Given the description of an element on the screen output the (x, y) to click on. 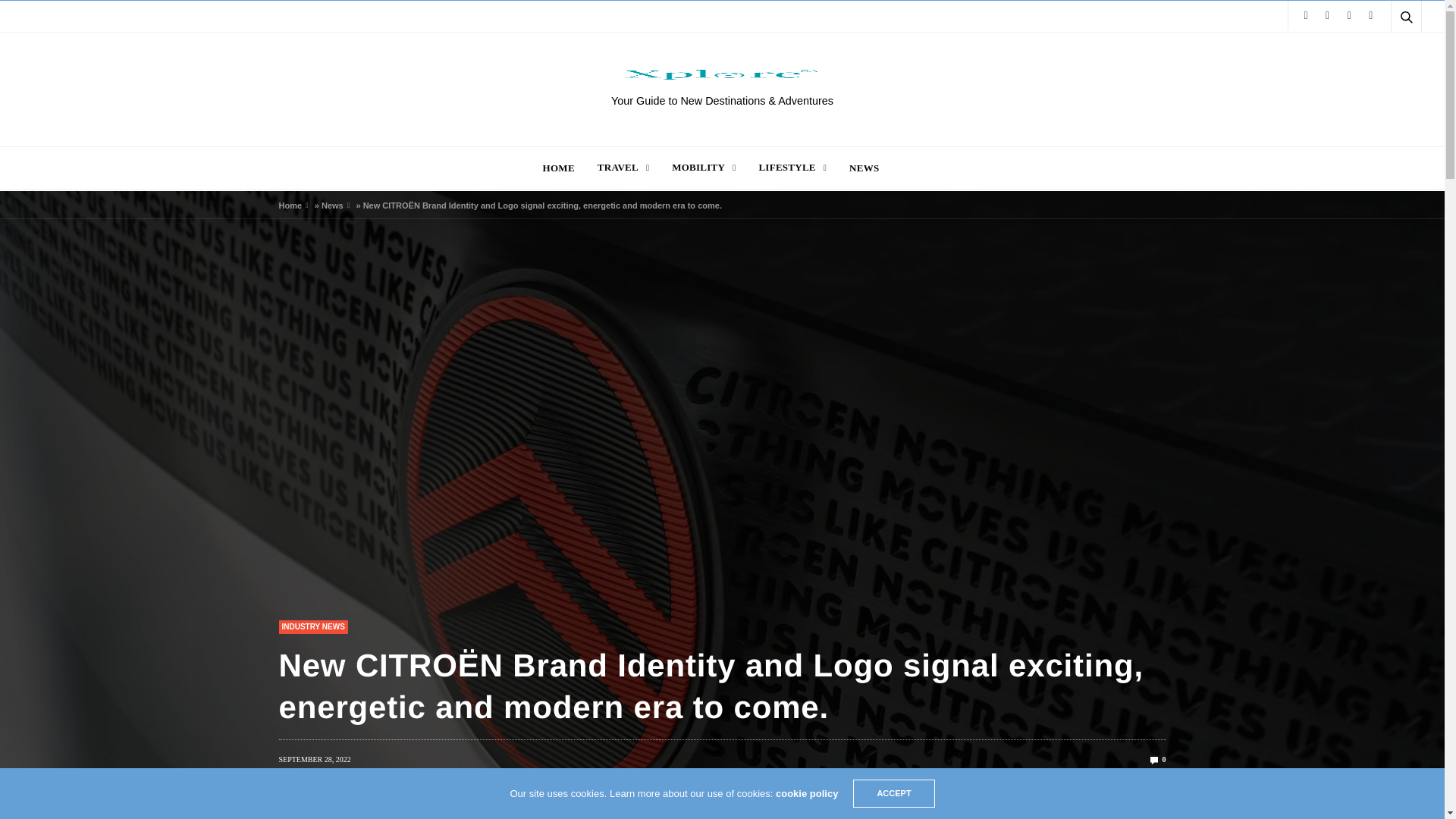
HOME (559, 167)
Search (1386, 53)
0 (1158, 759)
MOBILITY (703, 167)
Industry News (313, 626)
TRAVEL (622, 167)
INDUSTRY NEWS (313, 626)
Home (290, 204)
NEWS (863, 167)
LIFESTYLE (792, 167)
News (332, 204)
